Given the description of an element on the screen output the (x, y) to click on. 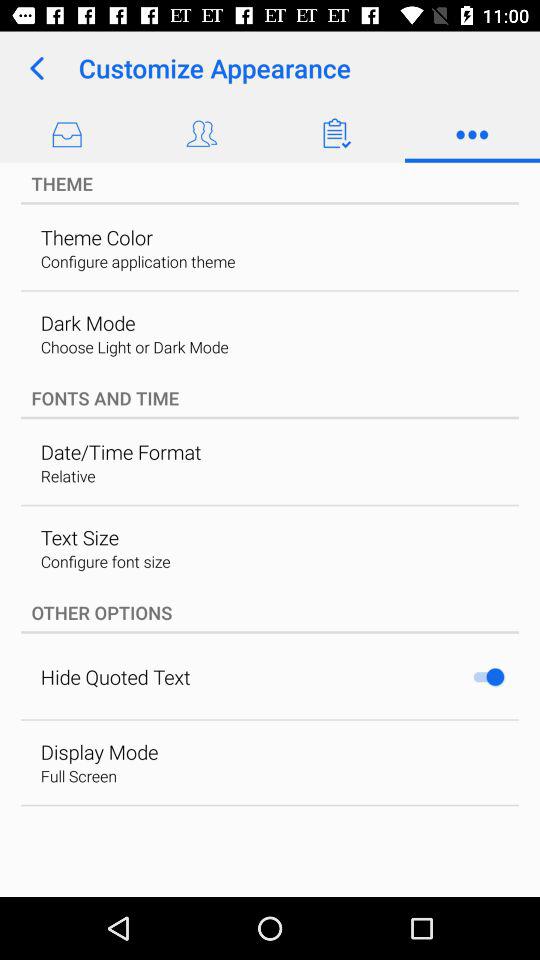
press the configure application theme (137, 261)
